Given the description of an element on the screen output the (x, y) to click on. 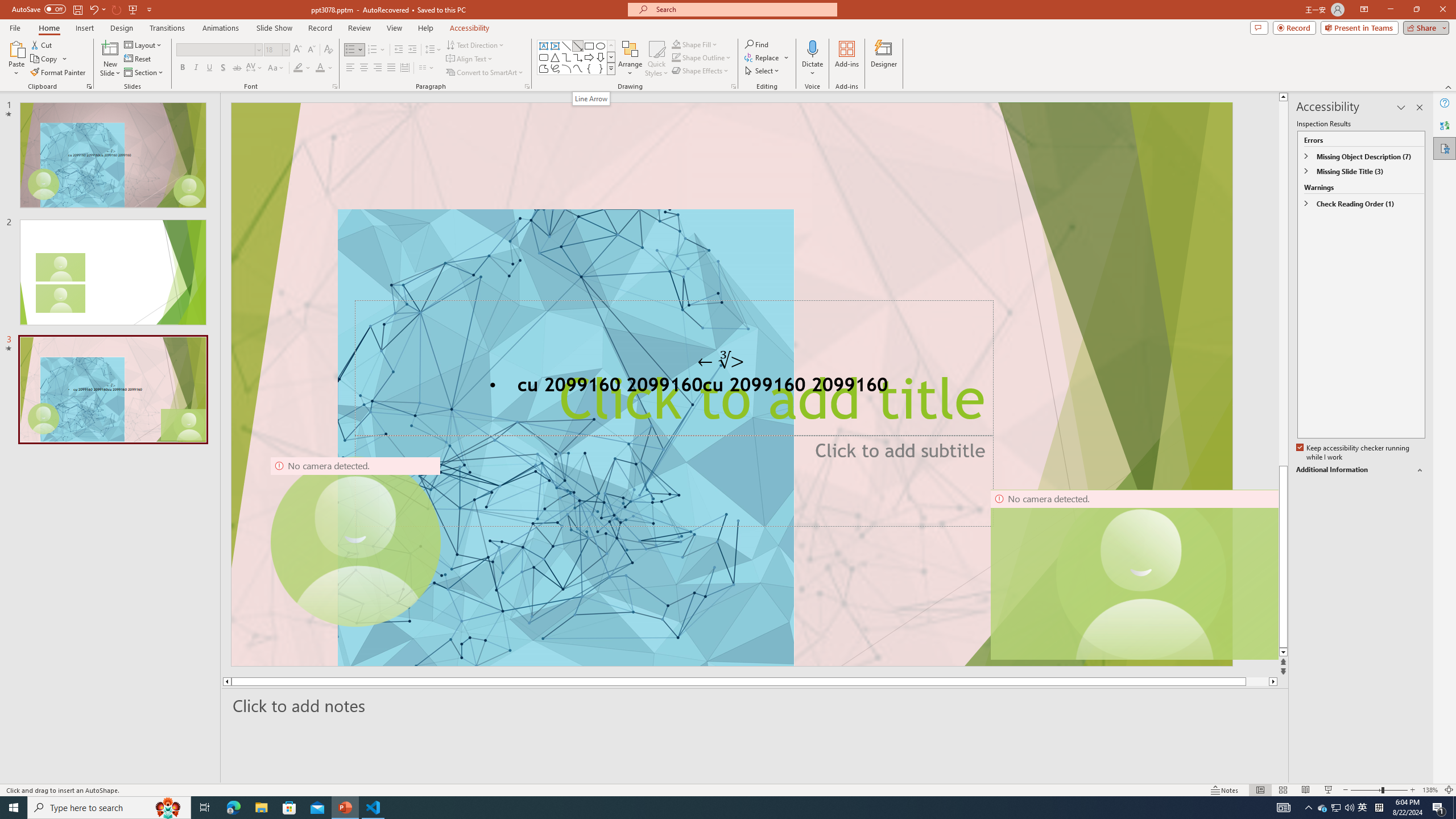
Bold (182, 67)
Text Direction (476, 44)
TextBox 7 (720, 360)
Italic (195, 67)
